Given the description of an element on the screen output the (x, y) to click on. 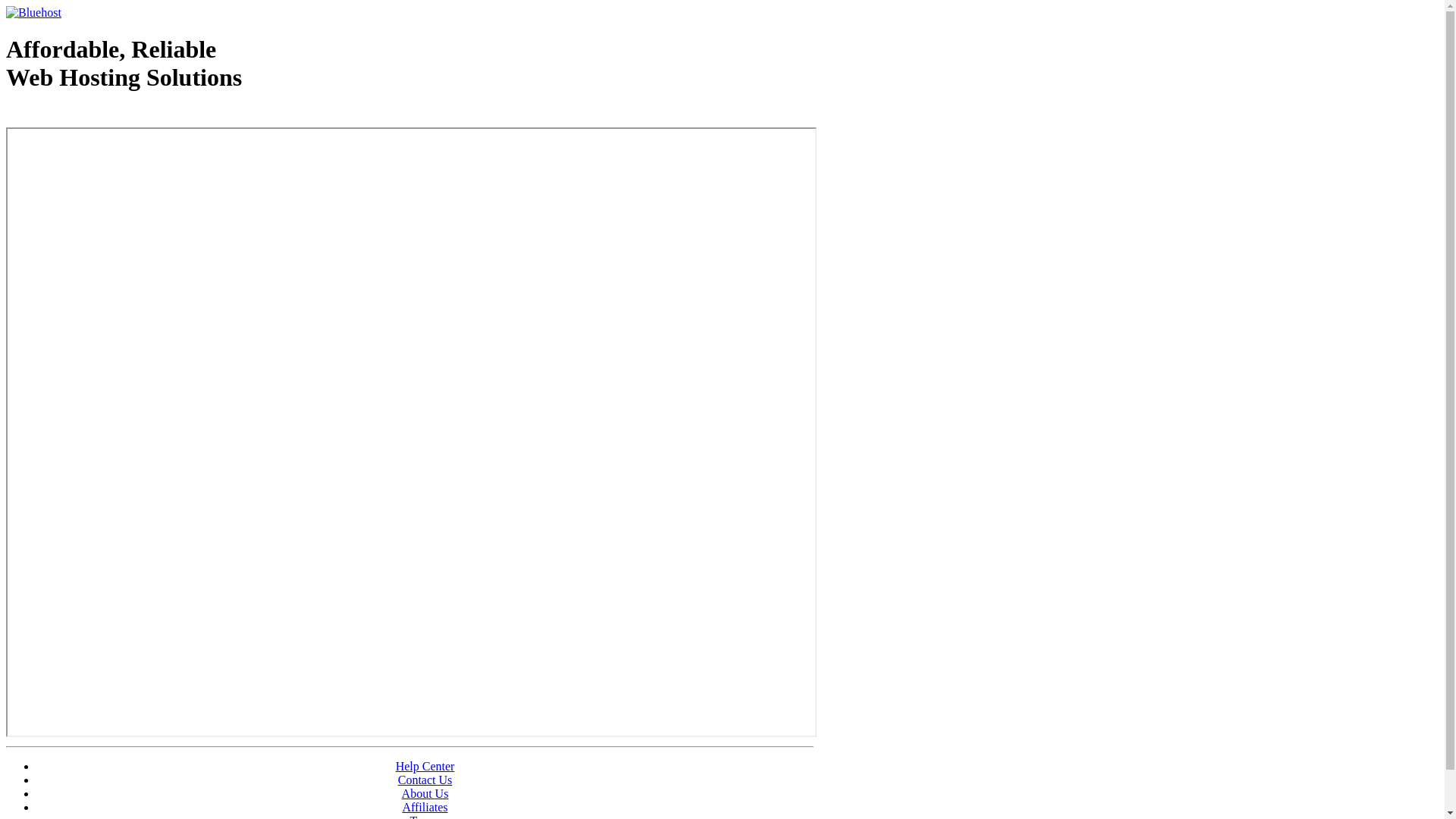
Web Hosting - courtesy of www.bluehost.com Element type: text (94, 115)
Help Center Element type: text (425, 765)
Contact Us Element type: text (425, 779)
About Us Element type: text (424, 793)
Affiliates Element type: text (424, 806)
